Given the description of an element on the screen output the (x, y) to click on. 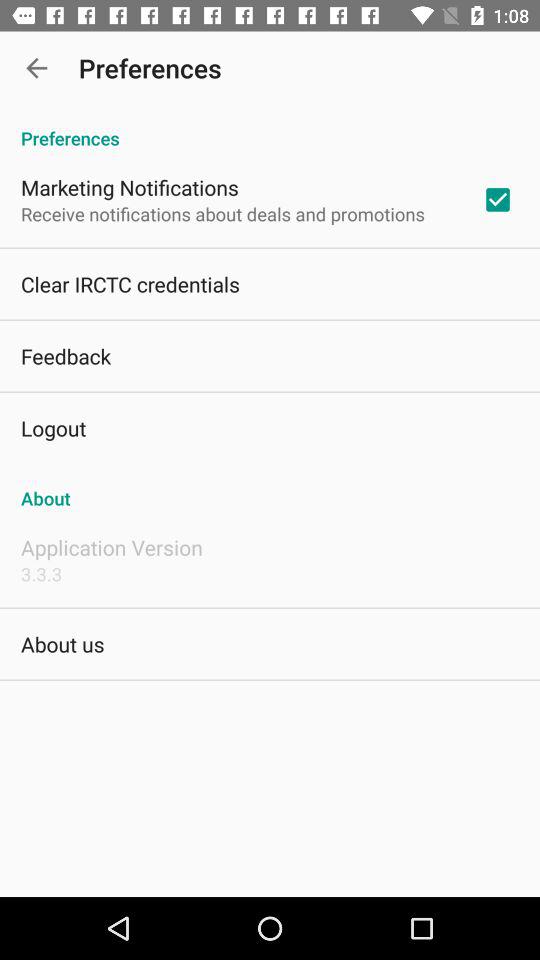
click the icon above clear irctc credentials app (222, 213)
